Given the description of an element on the screen output the (x, y) to click on. 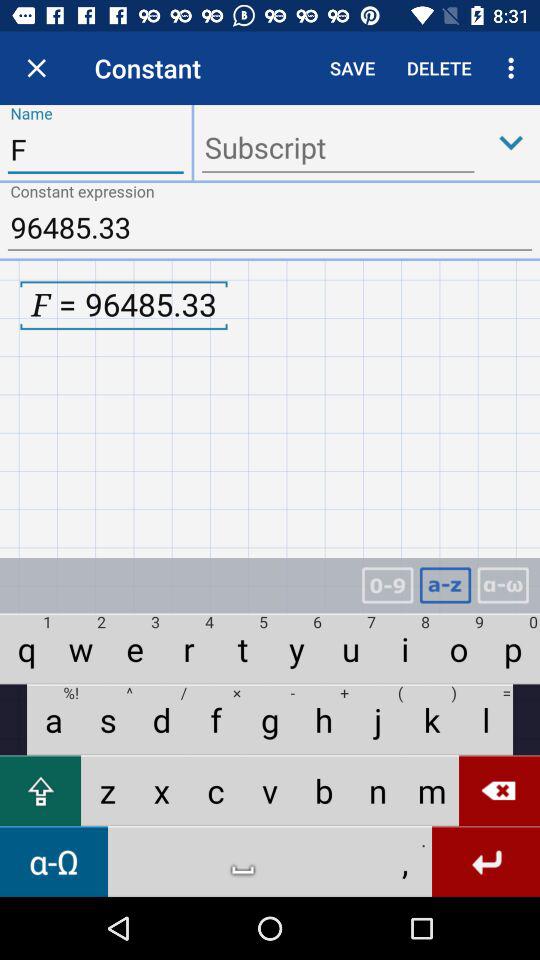
go to subscript box (337, 149)
